Given the description of an element on the screen output the (x, y) to click on. 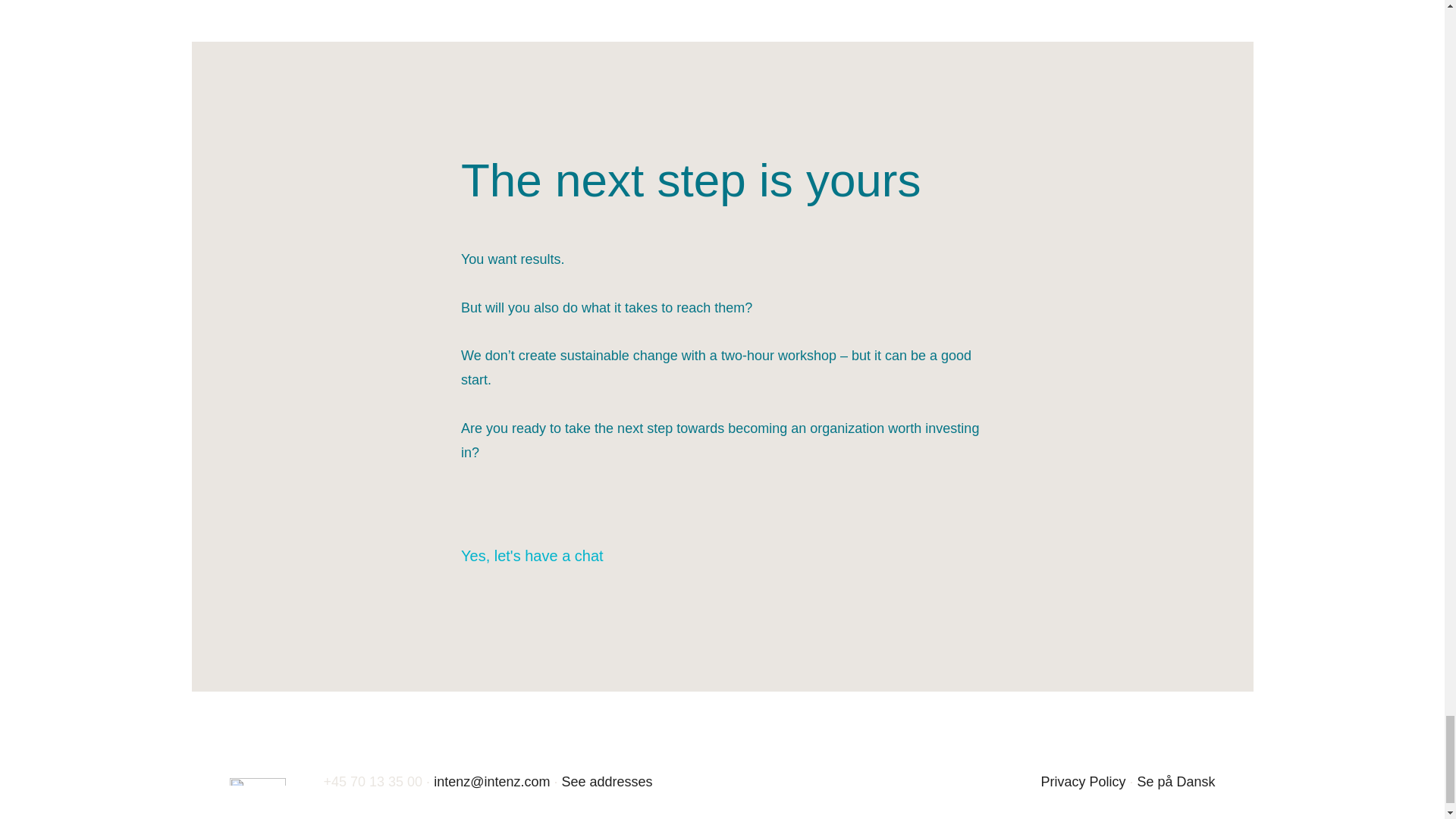
Privacy Policy (1083, 781)
See addresses (606, 781)
Yes, let's have a chat (546, 555)
